Given the description of an element on the screen output the (x, y) to click on. 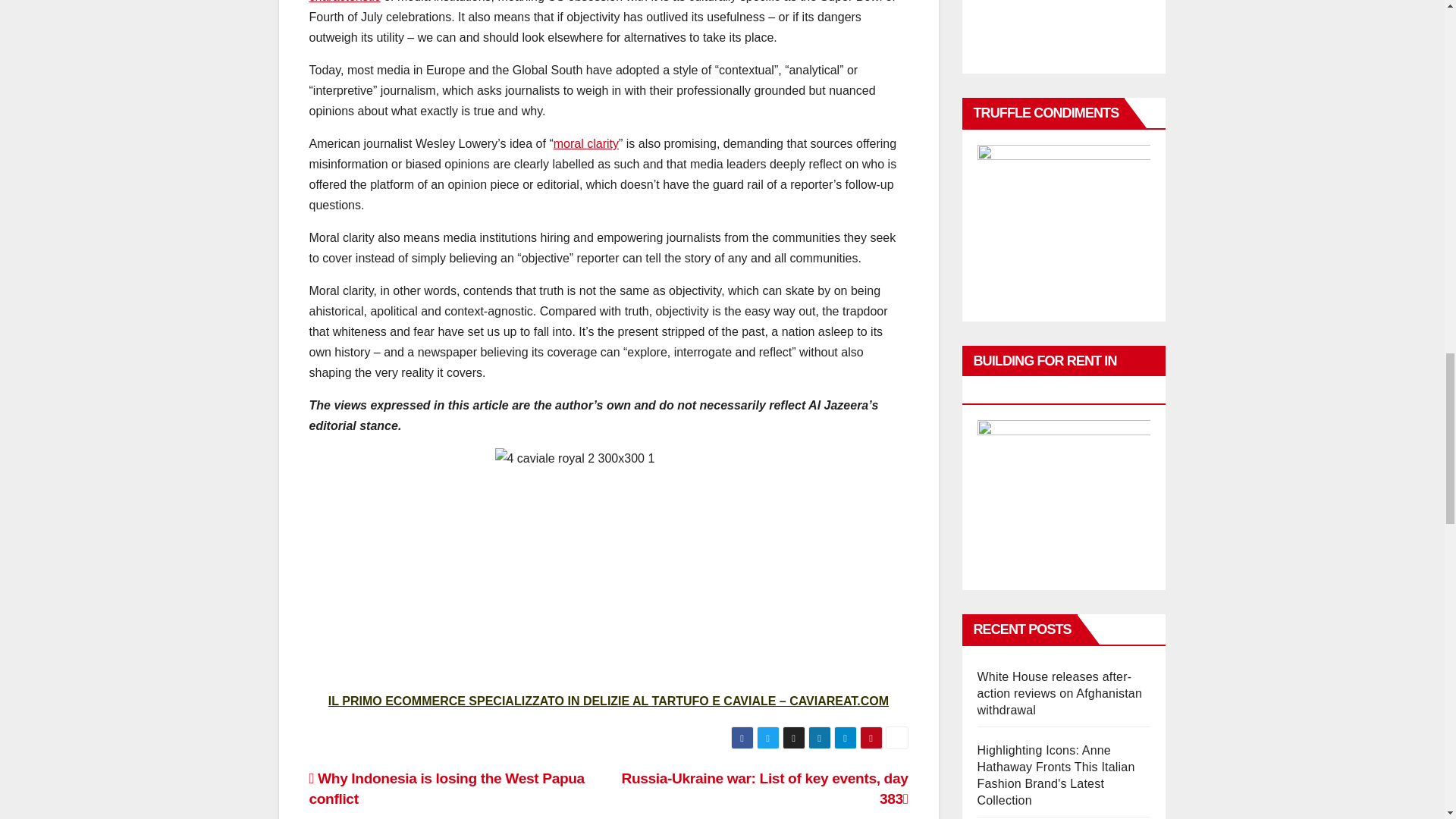
Why Indonesia is losing the West Papua conflict (446, 788)
The battle for the future of objectivity 2 (608, 561)
Russia-Ukraine war: List of key events, day 383 (764, 788)
moral clarity (585, 143)
